Given the description of an element on the screen output the (x, y) to click on. 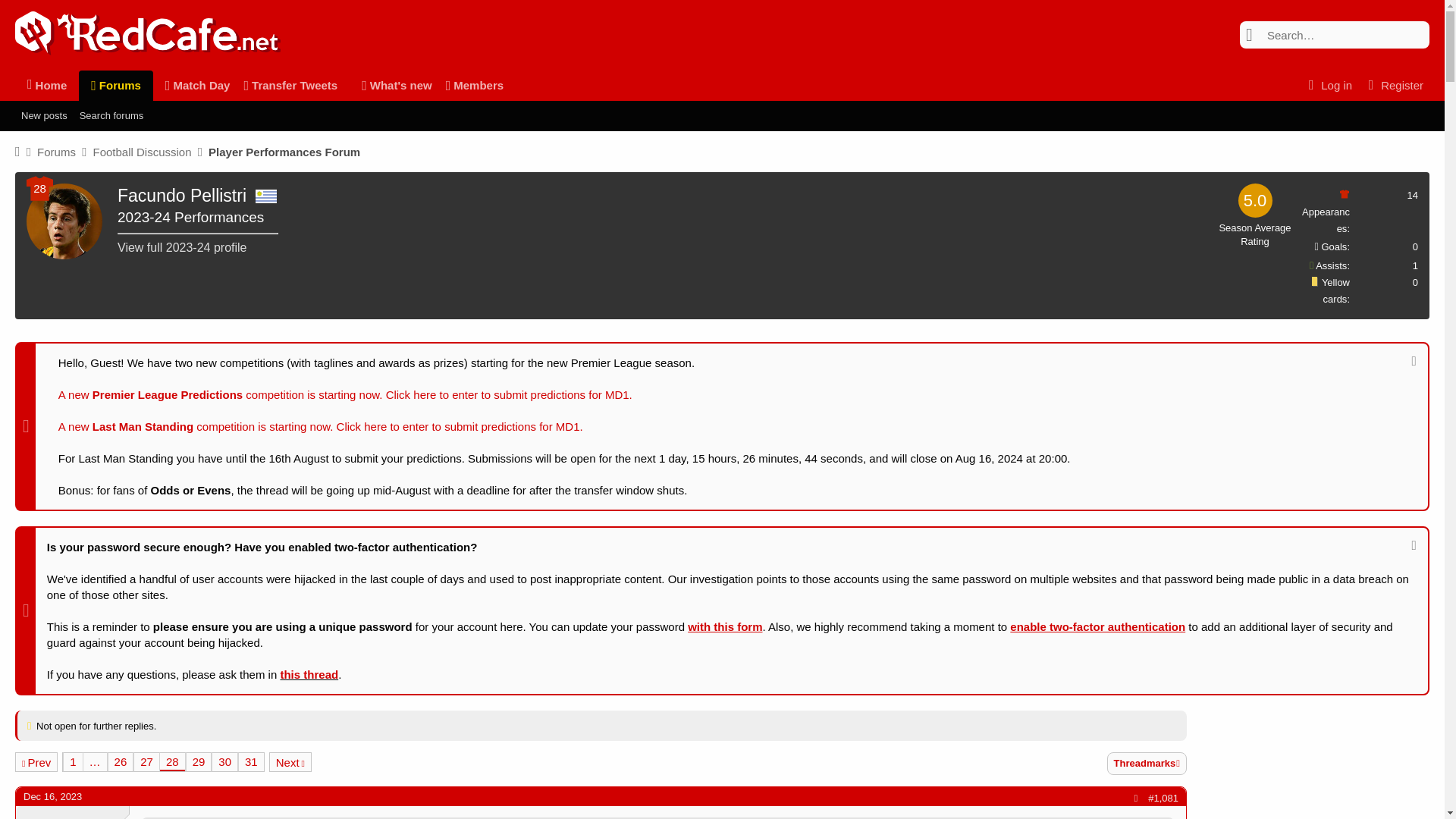
Match Day (191, 85)
What's new (391, 85)
Threadmarks (1146, 763)
Transfer Tweets (290, 85)
Home (46, 85)
Forums (115, 85)
Uruguay (266, 196)
Go to page (94, 761)
Squad number (39, 188)
